Given the description of an element on the screen output the (x, y) to click on. 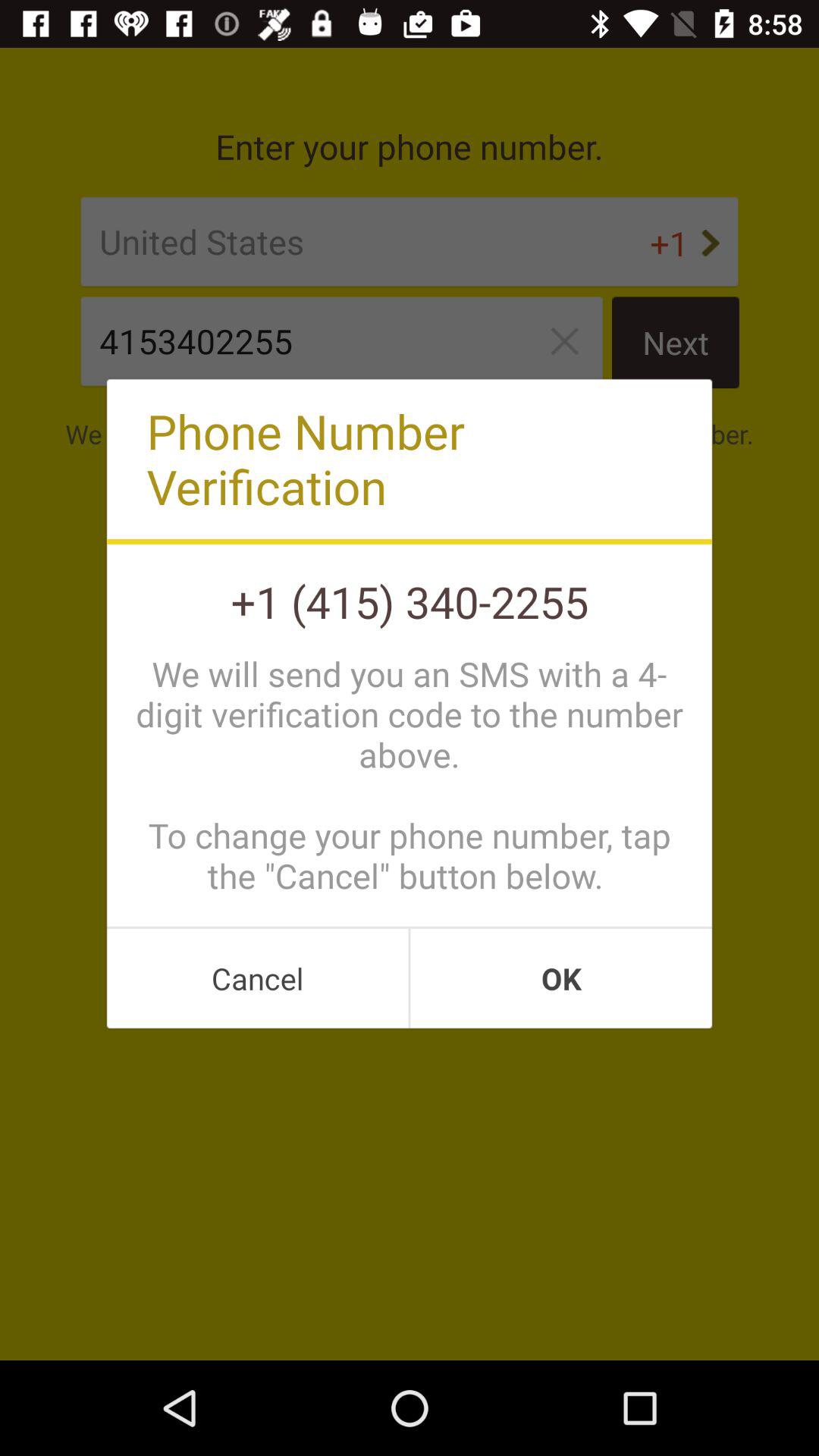
jump to the ok (561, 978)
